Given the description of an element on the screen output the (x, y) to click on. 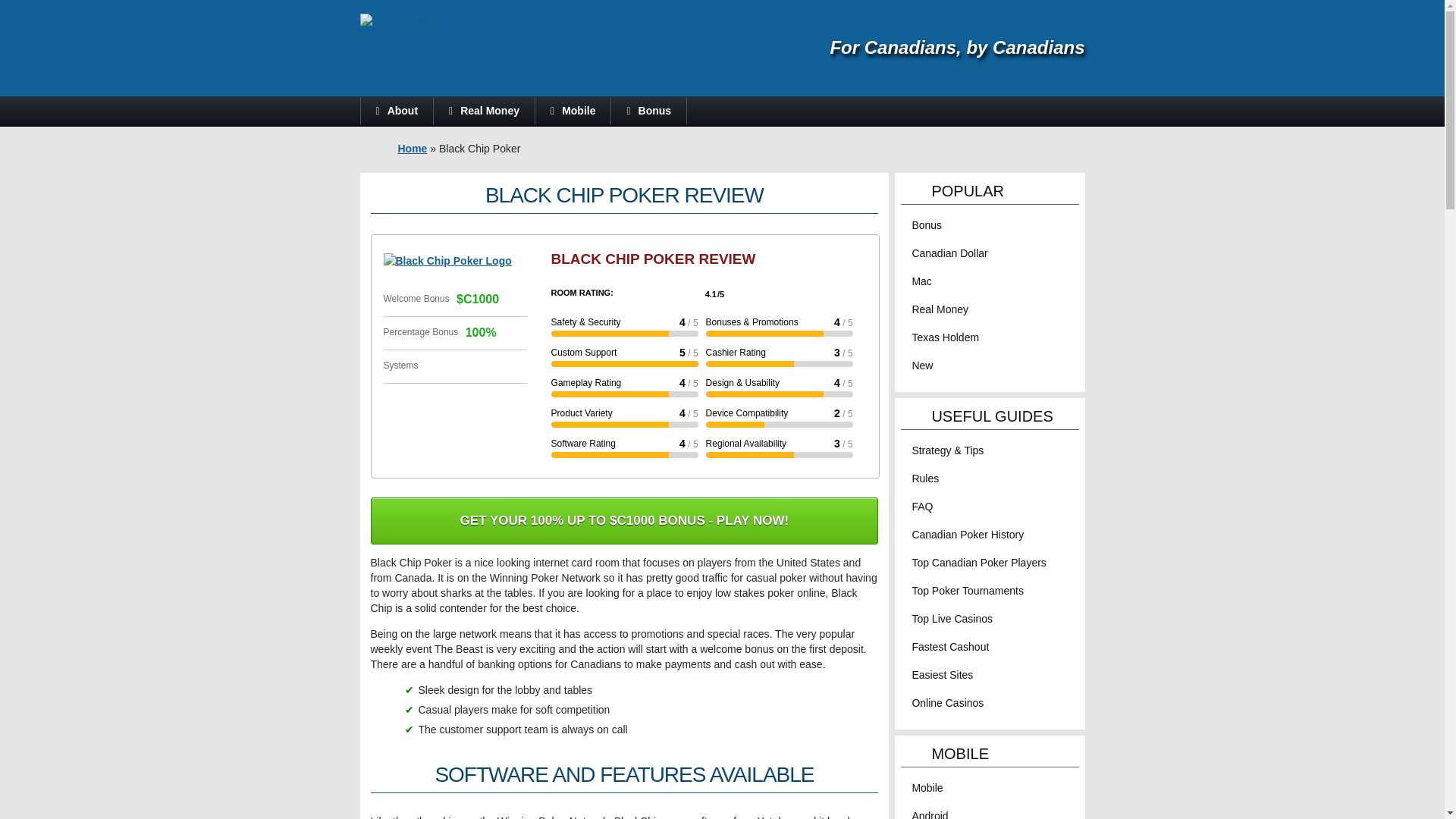
Bonus (648, 111)
Online Casinos (947, 702)
Mobile (572, 111)
Android (929, 814)
Texas Holdem (944, 337)
Fastest Cashout (949, 646)
Mac (921, 281)
Top Live Casinos (951, 618)
Easiest Sites (941, 674)
Rules (925, 478)
Top Canadian Poker Players (978, 562)
Bonus (926, 224)
Home (411, 148)
New (922, 365)
Real Money (939, 309)
